Given the description of an element on the screen output the (x, y) to click on. 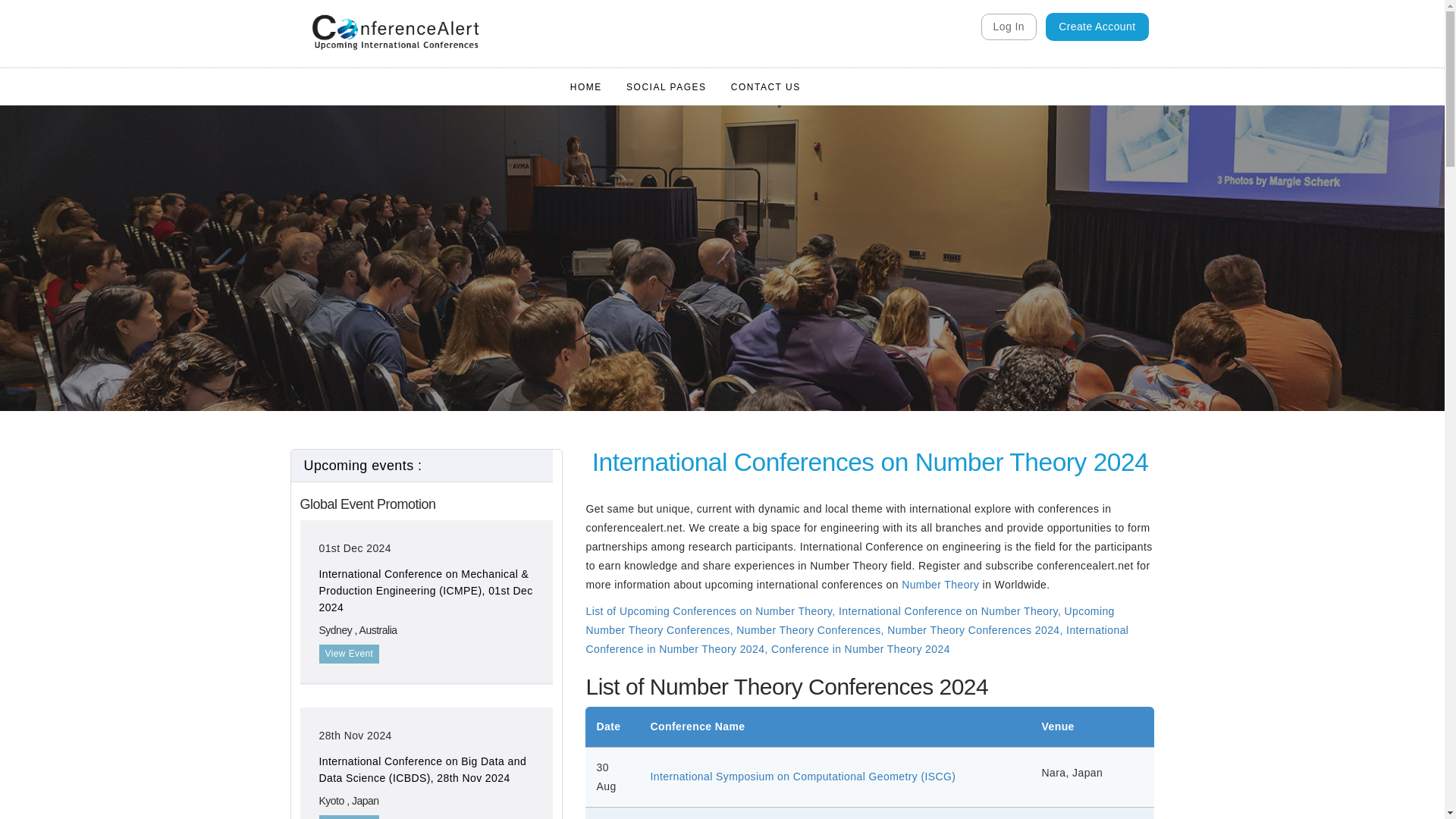
Number Theory Conferences 2024, (975, 324)
HOME (585, 68)
Log In (1008, 26)
Number Theory Conferences, (811, 324)
View Event (348, 518)
Contact us today (426, 739)
List of Upcoming Conferences on Number Theory, (709, 305)
Upcoming Number Theory Conferences, (849, 314)
CONTACT US (765, 68)
International Conference on Number Theory, (951, 305)
